Given the description of an element on the screen output the (x, y) to click on. 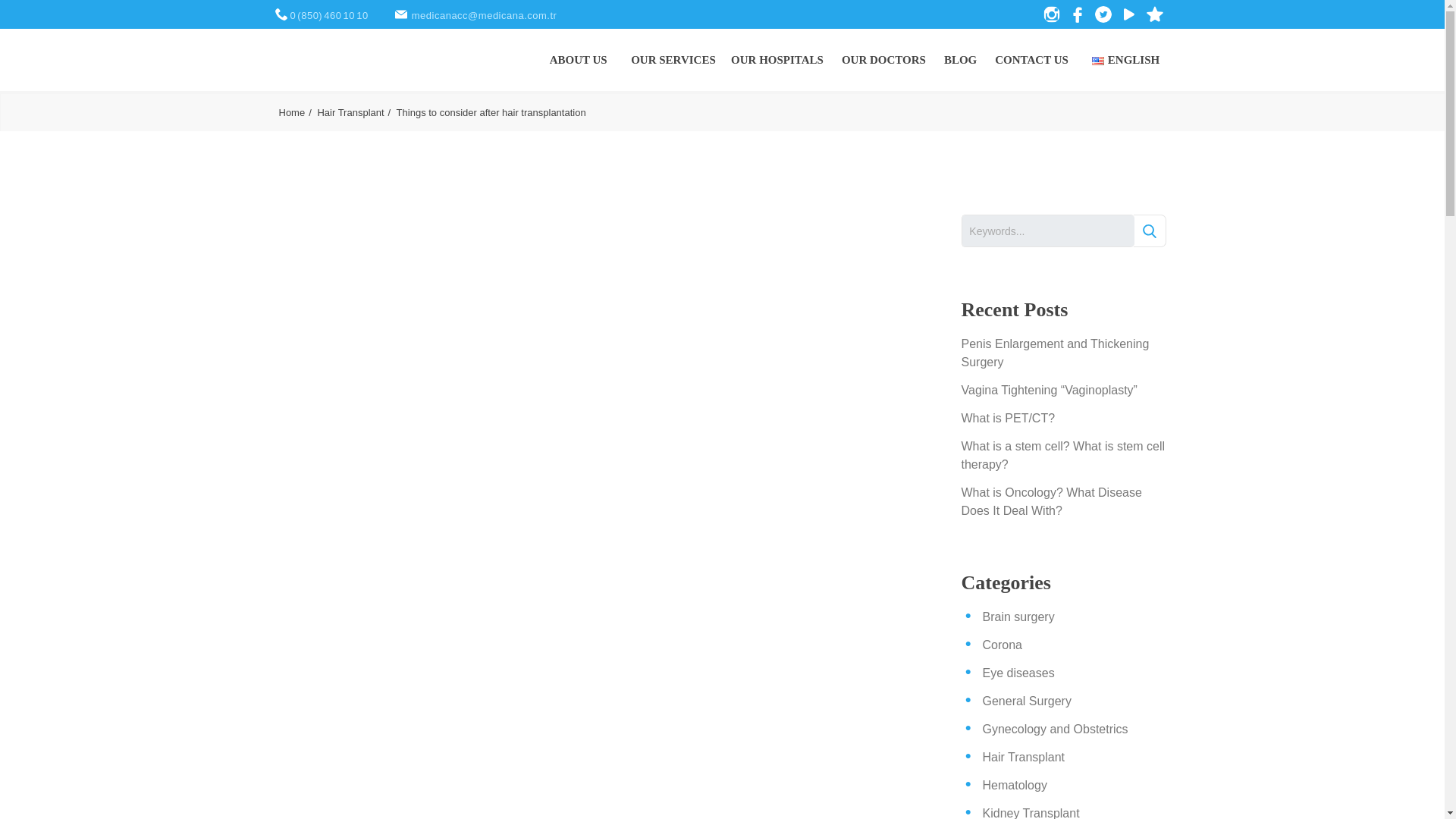
Home (296, 112)
BLOG (959, 59)
OUR SERVICES (673, 59)
149852 (1148, 230)
OUR DOCTORS (883, 59)
Yandex (402, 14)
ABOUT US (578, 59)
telephone-1 (282, 14)
CONTACT US (1031, 59)
OUR HOSPITALS (777, 59)
Hair Transplant (355, 112)
ENGLISH (1126, 59)
